Given the description of an element on the screen output the (x, y) to click on. 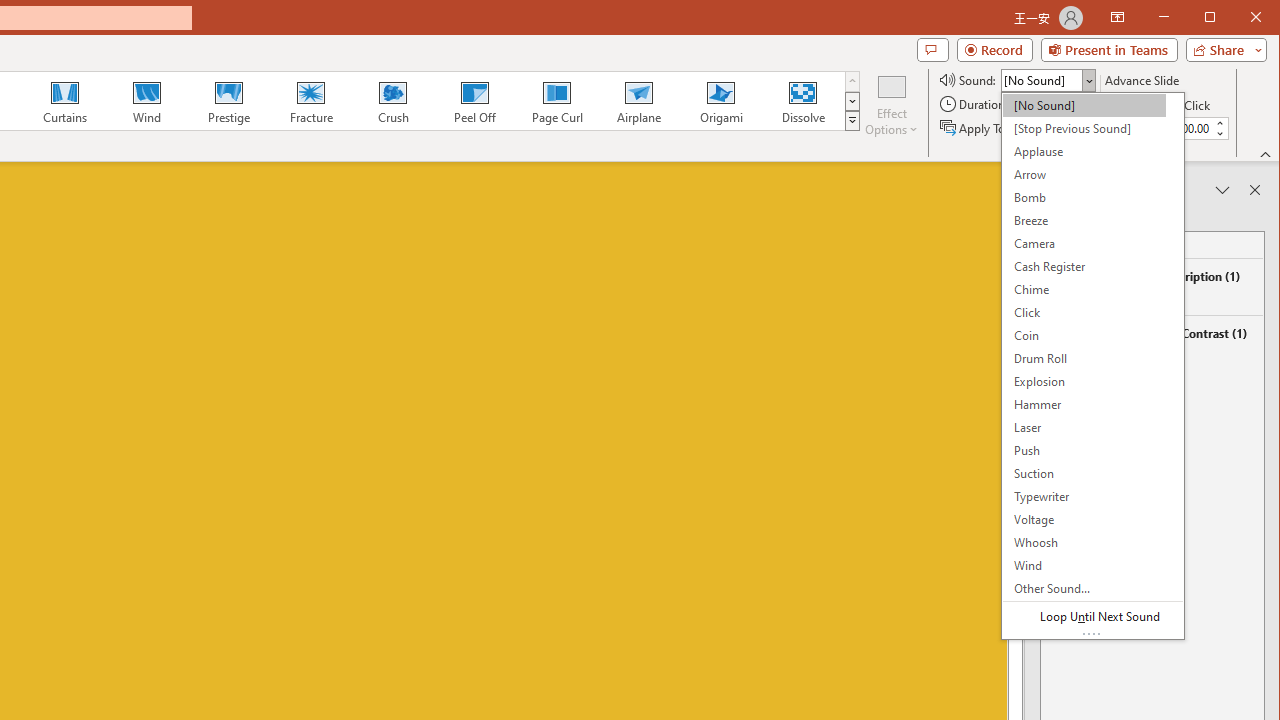
Ribbon Display Options (1117, 17)
More (1218, 123)
Less (1218, 133)
Dissolve (802, 100)
Sound (1047, 80)
Crush (392, 100)
Collapse the Ribbon (1266, 154)
Class: NetUIImage (852, 120)
Maximize (1238, 18)
Row up (852, 81)
Page Curl (556, 100)
Close pane (1254, 189)
Wind (147, 100)
Peel Off (474, 100)
